Given the description of an element on the screen output the (x, y) to click on. 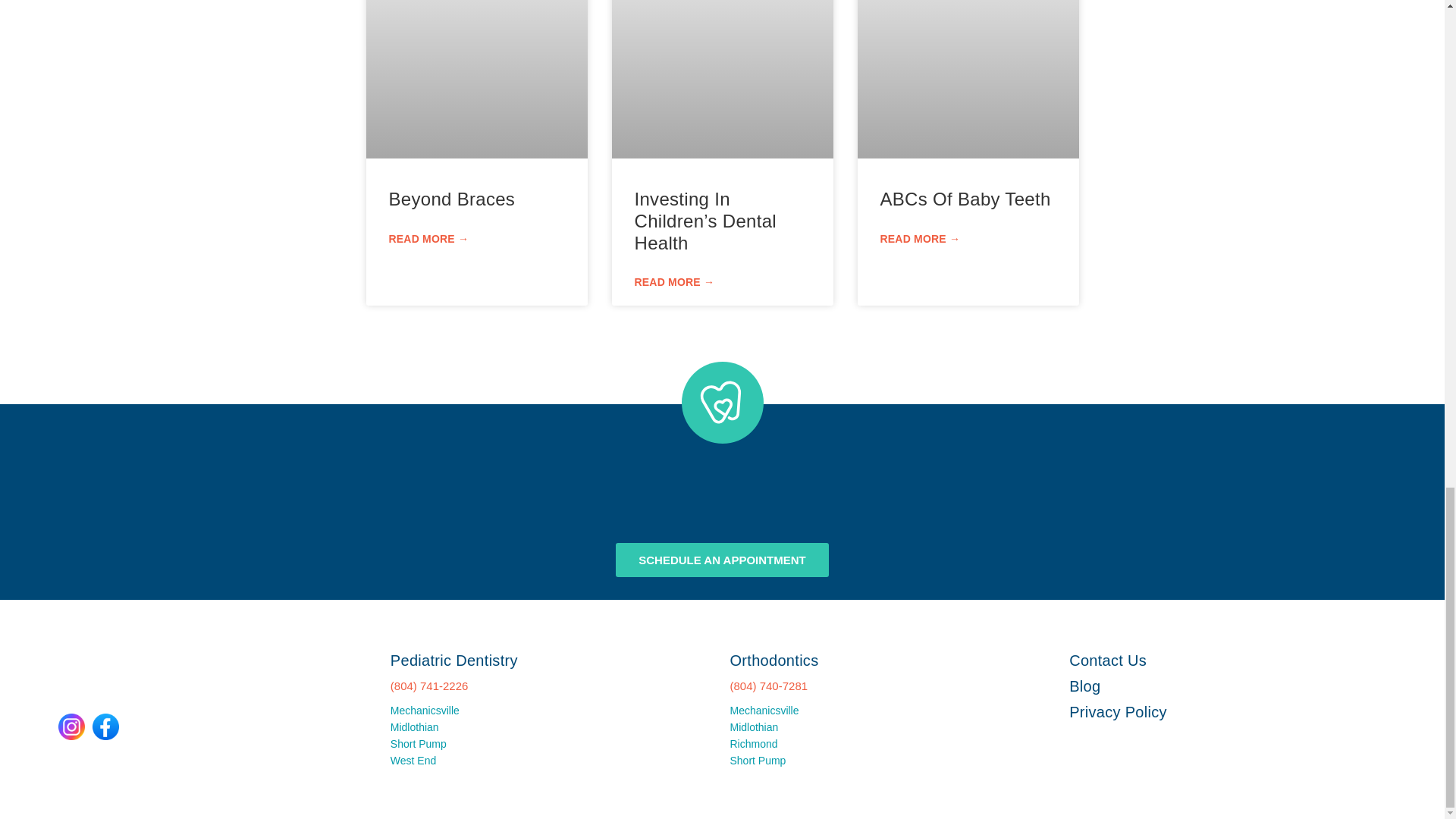
ABCs Of Baby Teeth (964, 199)
SCHEDULE AN APPOINTMENT (721, 559)
Beyond Braces (451, 199)
Pediatric Dentistry (454, 660)
